Given the description of an element on the screen output the (x, y) to click on. 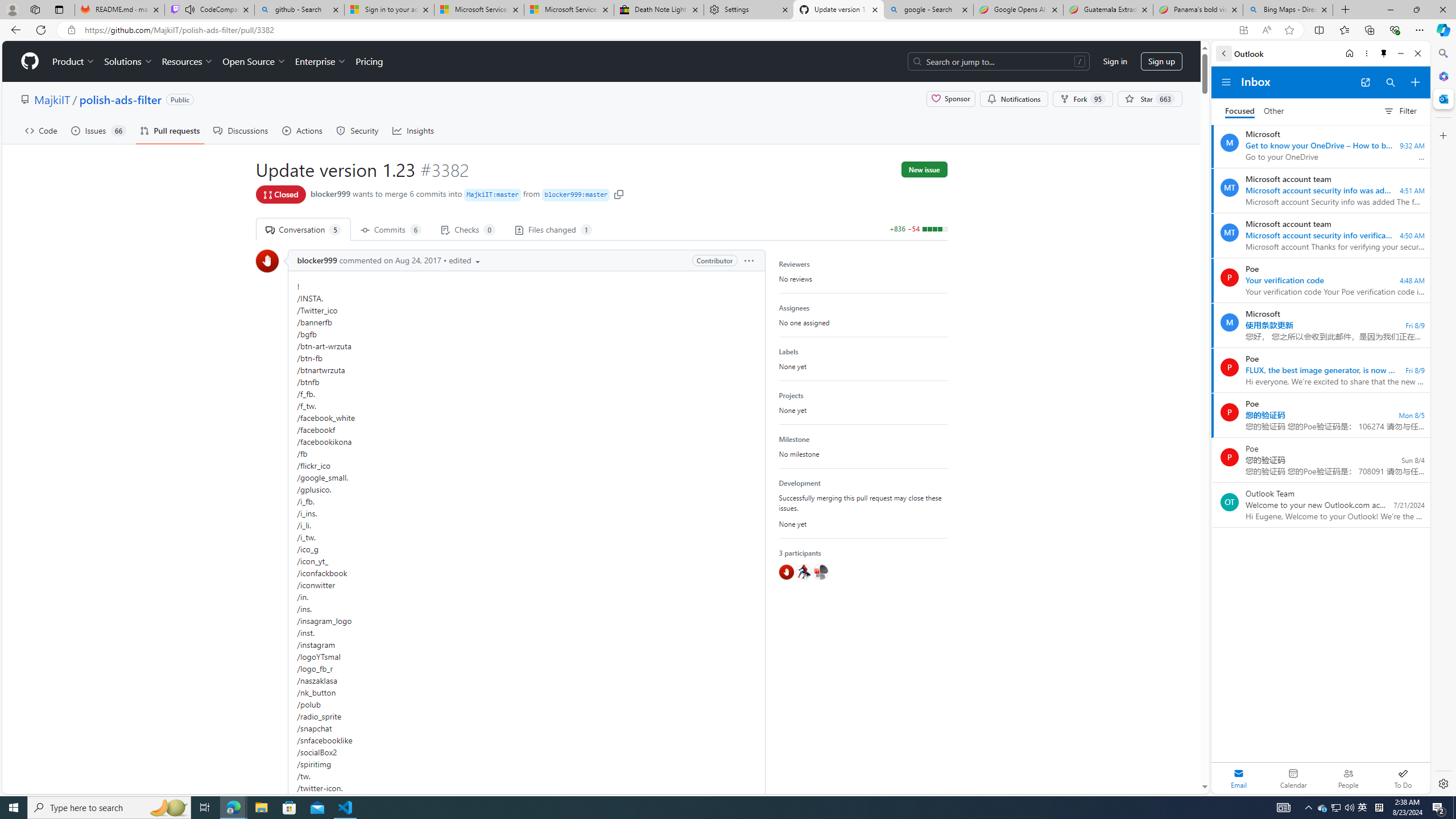
Show options (748, 260)
You must be signed in to star a repository (1150, 98)
Product (74, 60)
Other (1273, 110)
To Do (1402, 777)
blocker999 (317, 260)
Enterprise (319, 60)
